Given the description of an element on the screen output the (x, y) to click on. 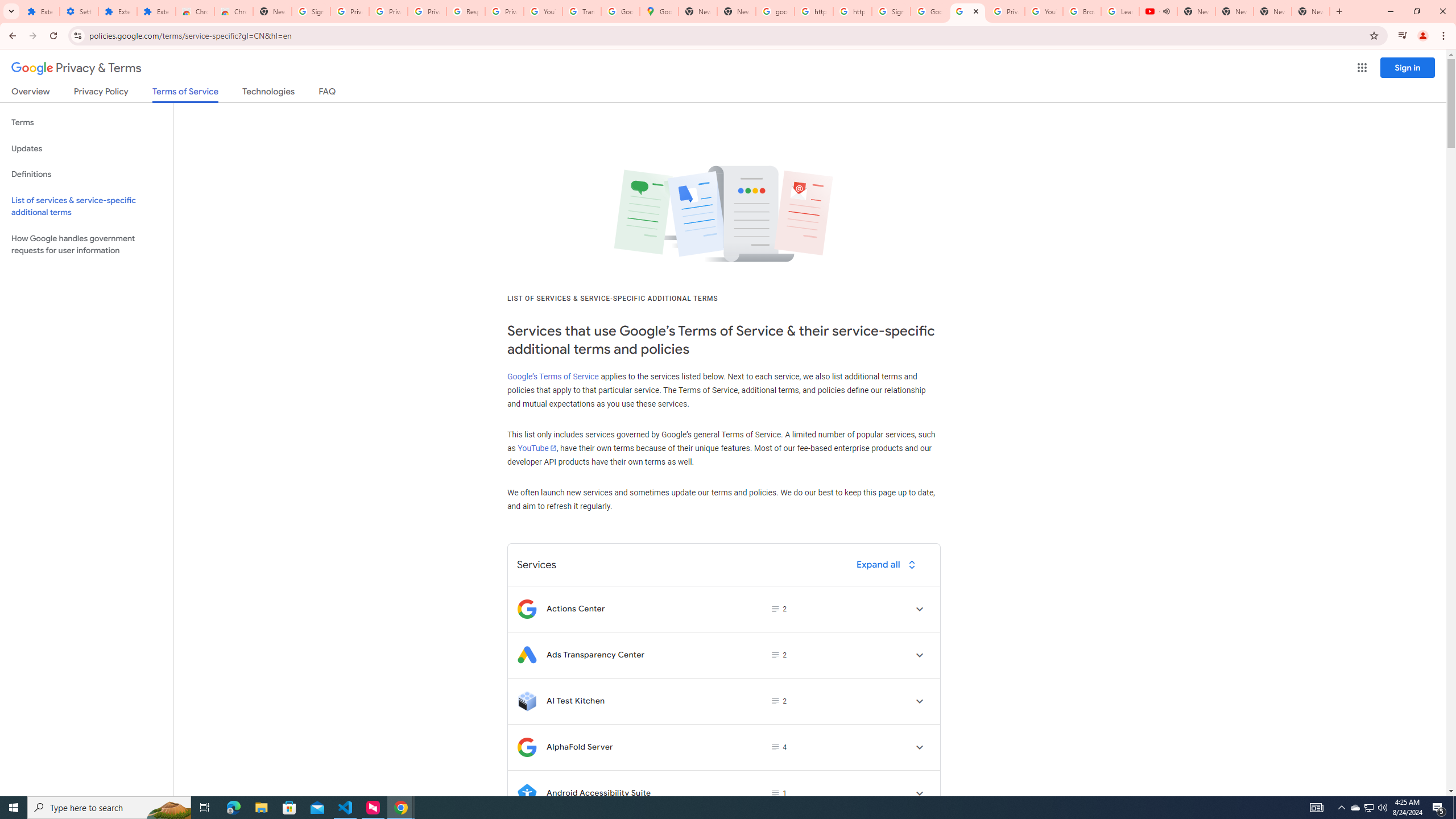
Logo for AI Test Kitchen (526, 700)
Extensions (117, 11)
New Tab (1311, 11)
Logo for Actions Center (526, 608)
